Given the description of an element on the screen output the (x, y) to click on. 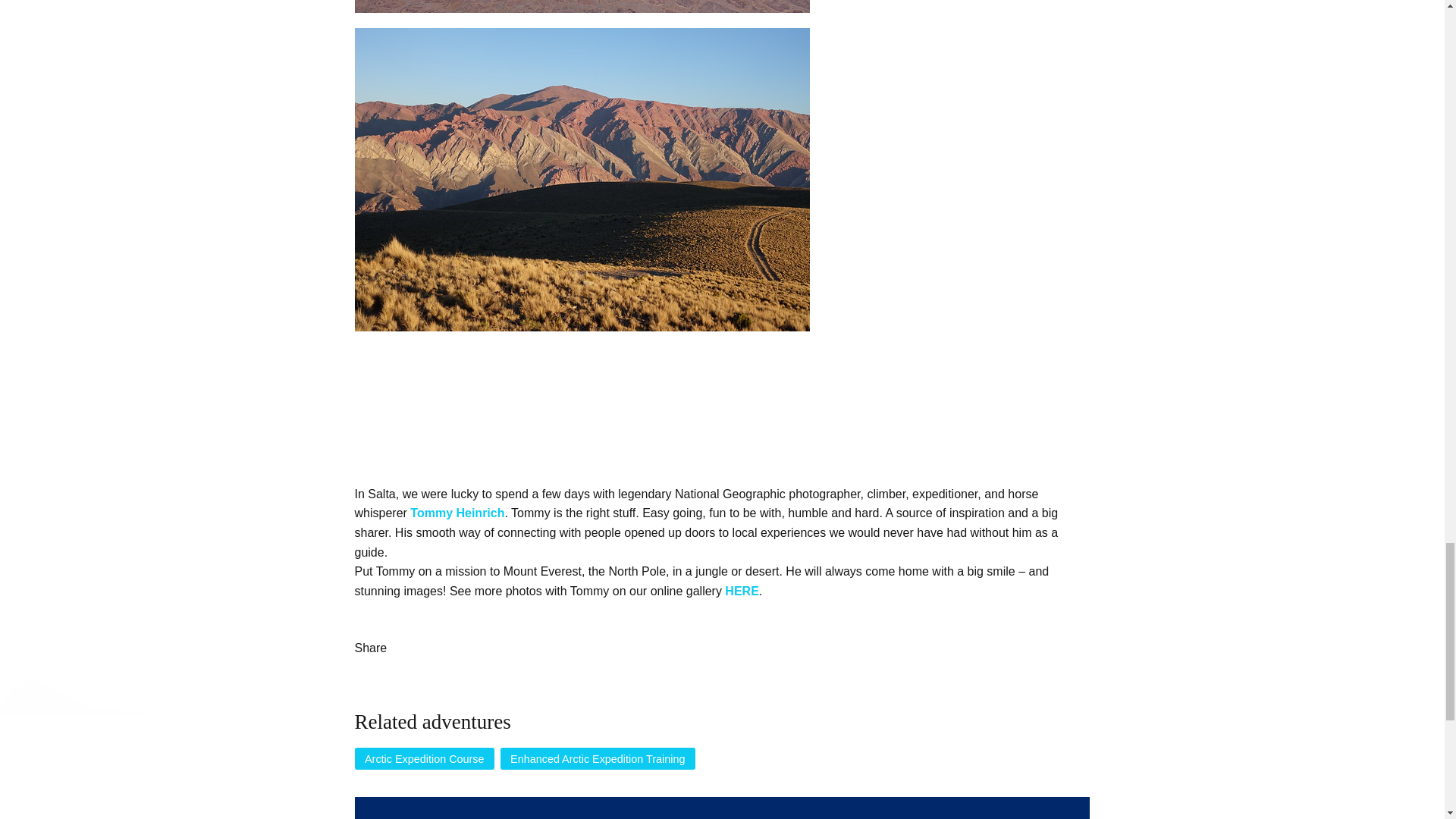
Arctic Expedition Course (425, 758)
HERE (741, 590)
Enhanced Arctic Expedition Training (597, 758)
Tommy Heinrich (456, 512)
